Given the description of an element on the screen output the (x, y) to click on. 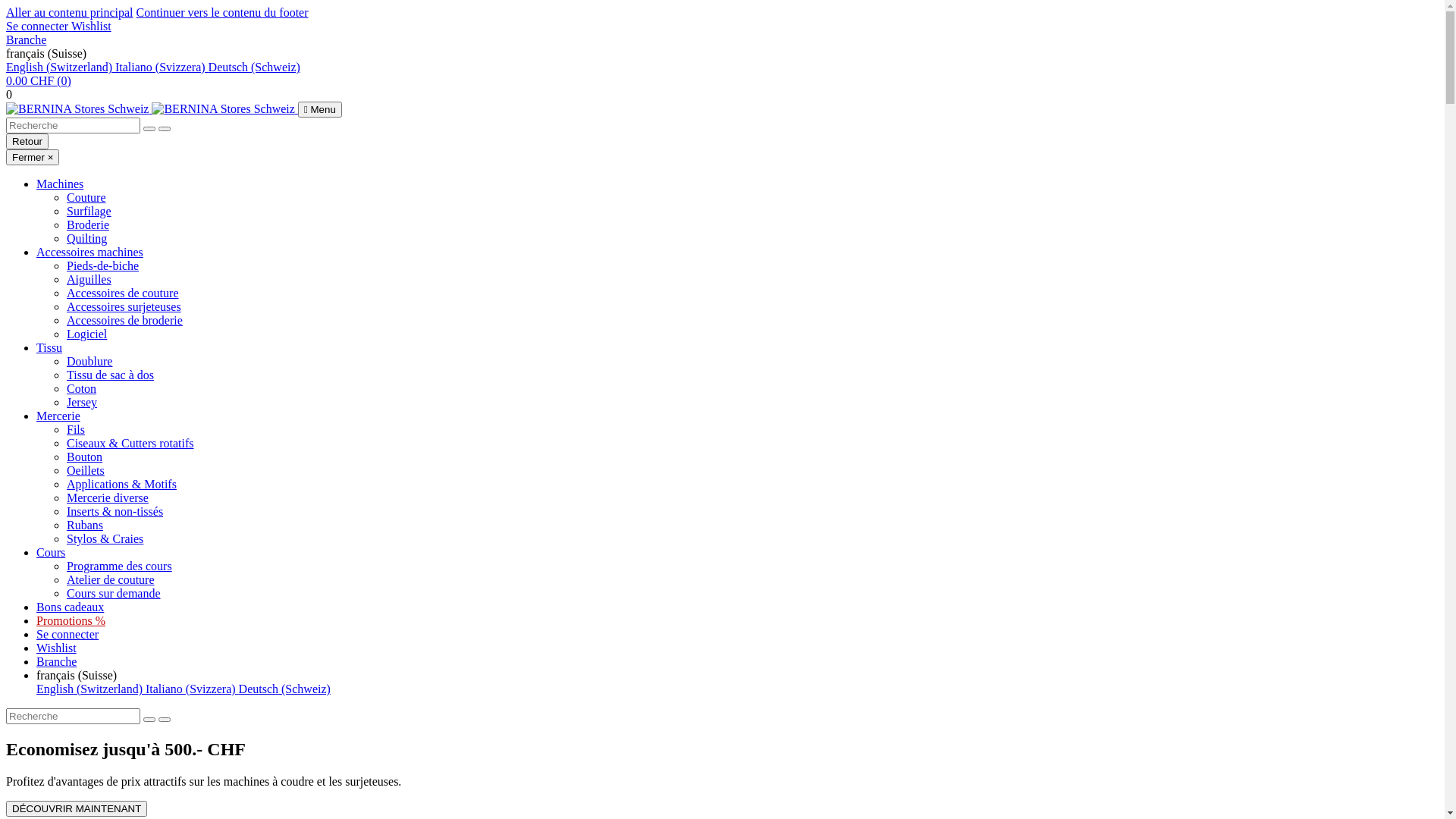
Programme des cours Element type: text (119, 565)
Branche Element type: text (56, 661)
Couture Element type: text (86, 197)
Bons cadeaux Element type: text (69, 606)
Italiano (Svizzera) Element type: text (191, 688)
Doublure Element type: text (89, 360)
Tissu Element type: text (49, 347)
Stylos & Craies Element type: text (104, 538)
Aller au contenu principal Element type: text (69, 12)
Ciseaux & Cutters rotatifs Element type: text (130, 442)
Oeillets Element type: text (85, 470)
Mercerie Element type: text (58, 415)
Se connecter Element type: text (38, 25)
Accessoires de couture Element type: text (122, 292)
Jersey Element type: text (81, 401)
Retour Element type: text (27, 141)
Rubans Element type: text (84, 524)
Atelier de couture Element type: text (110, 579)
Coton Element type: text (81, 388)
Machines Element type: text (59, 183)
Broderie Element type: text (87, 224)
Se connecter Element type: text (67, 633)
English (Switzerland) Element type: text (60, 66)
Wishlist Element type: text (91, 25)
English (Switzerland) Element type: text (90, 688)
Aiguilles Element type: text (88, 279)
0.00 CHF (0) Element type: text (38, 80)
Deutsch (Schweiz) Element type: text (254, 66)
Logiciel Element type: text (86, 333)
Cours Element type: text (50, 552)
Quilting Element type: text (86, 238)
Fils Element type: text (75, 429)
Accessoires surjeteuses Element type: text (123, 306)
Cours sur demande Element type: text (113, 592)
Applications & Motifs Element type: text (121, 483)
BERNINA Stores Schweiz Accueil Element type: hover (152, 108)
Branche Element type: text (26, 39)
Continuer vers le contenu du footer Element type: text (222, 12)
Surfilage Element type: text (88, 210)
Mercerie diverse Element type: text (107, 497)
Wishlist Element type: text (56, 647)
Accessoires de broderie Element type: text (124, 319)
Pieds-de-biche Element type: text (102, 265)
Italiano (Svizzera) Element type: text (161, 66)
Bouton Element type: text (84, 456)
Promotions % Element type: text (70, 620)
Deutsch (Schweiz) Element type: text (284, 688)
Accessoires machines Element type: text (89, 251)
